Given the description of an element on the screen output the (x, y) to click on. 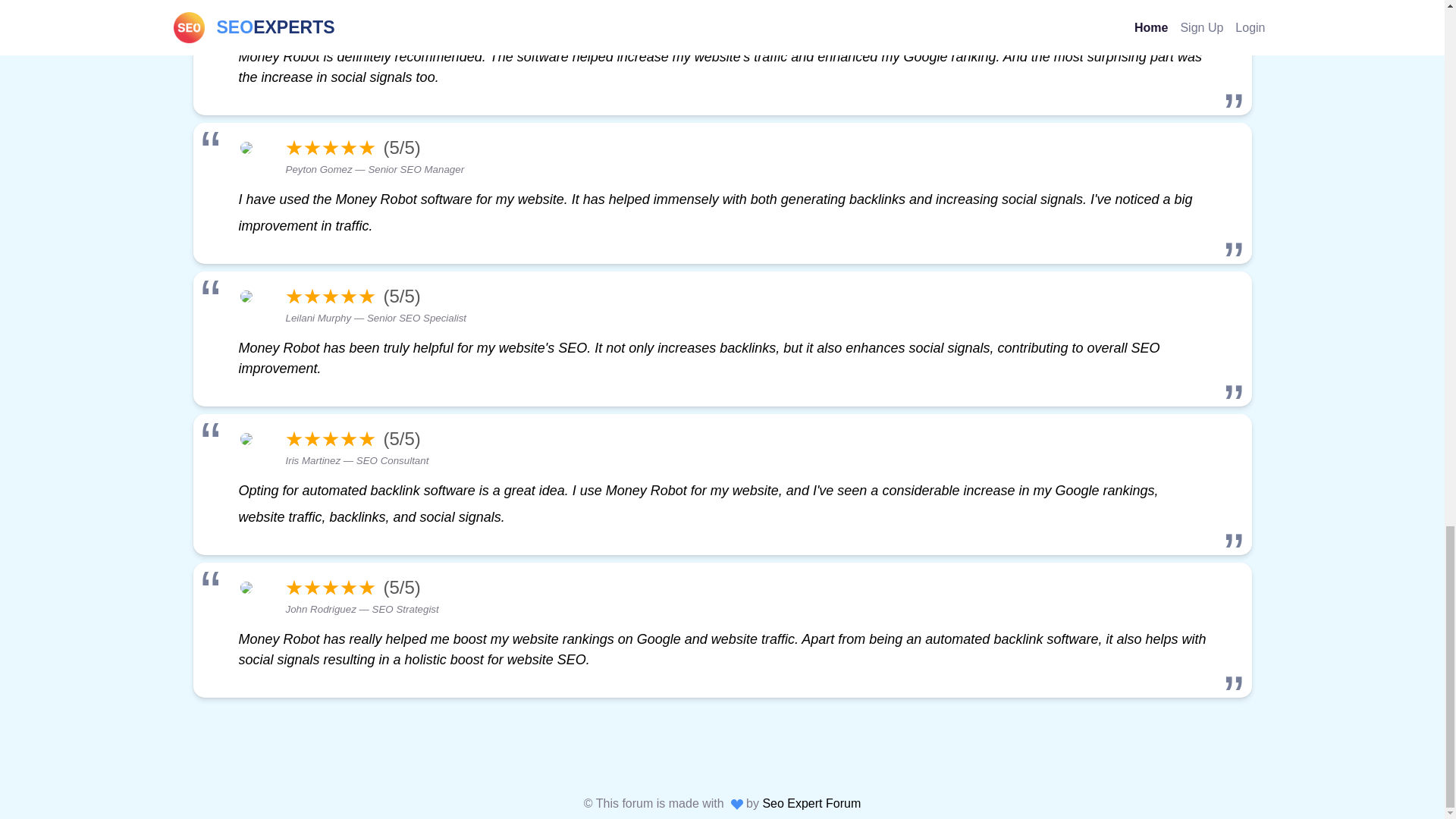
Seo Expert Forum (810, 802)
